Given the description of an element on the screen output the (x, y) to click on. 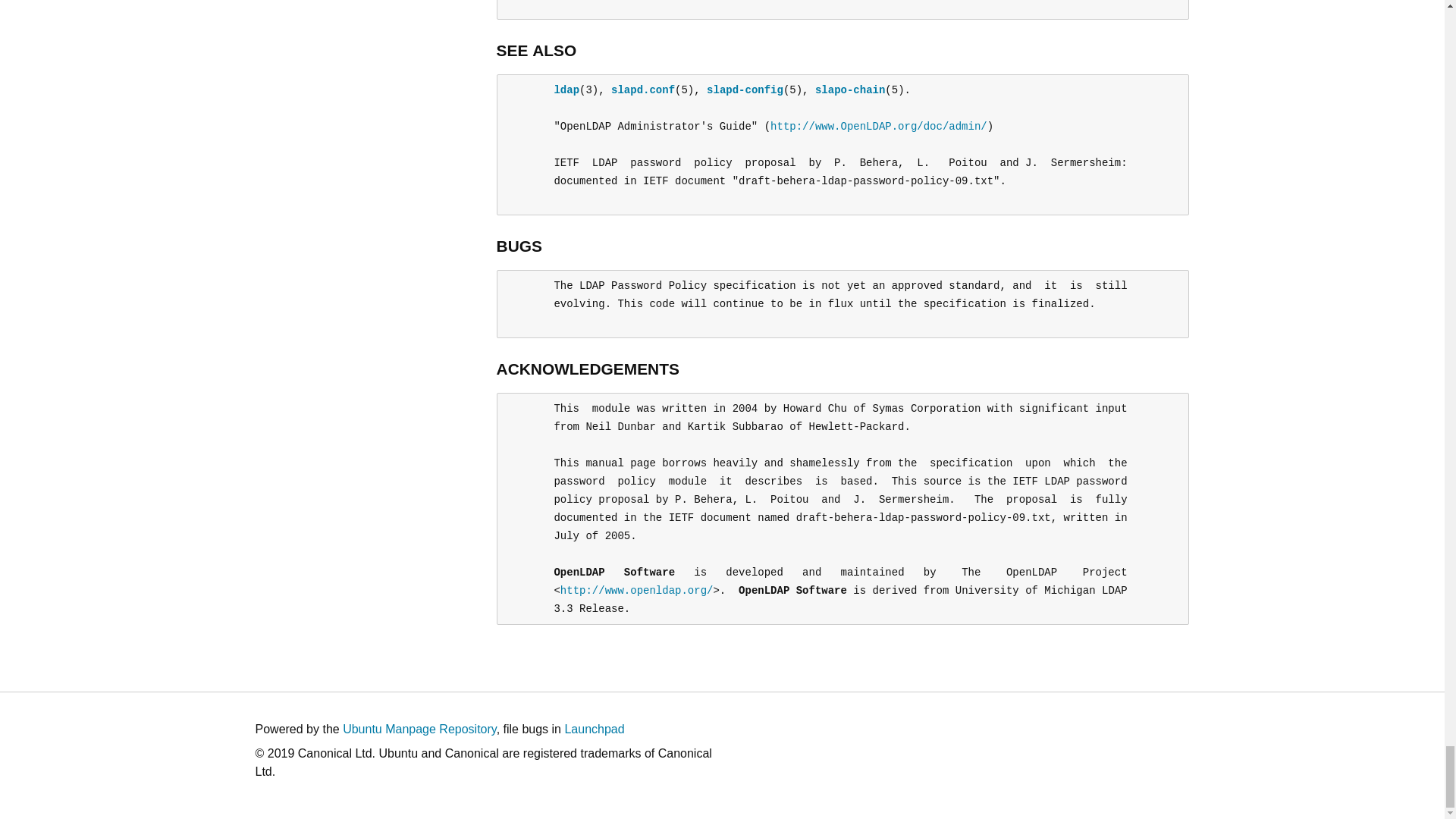
Launchpad (594, 728)
Ubuntu Manpage Repository (419, 728)
slapo-chain (850, 90)
slapd-config (744, 90)
slapd.conf (643, 90)
ldap (566, 90)
